Given the description of an element on the screen output the (x, y) to click on. 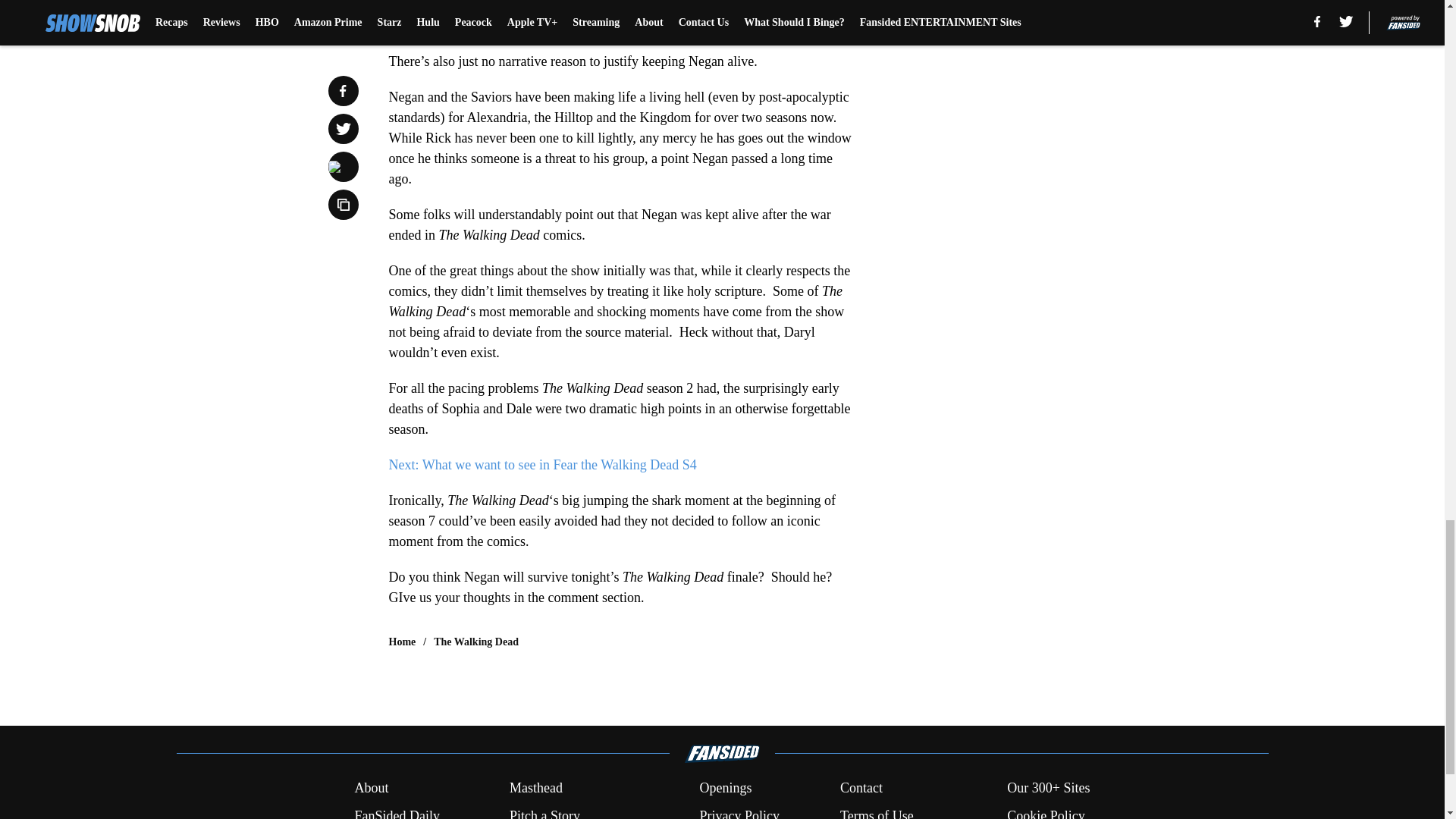
Pitch a Story (544, 812)
Home (401, 642)
Openings (724, 788)
The Walking Dead (475, 642)
Contact (861, 788)
Next: What we want to see in Fear the Walking Dead S4 (541, 464)
Masthead (535, 788)
FanSided Daily (396, 812)
About (370, 788)
